Given the description of an element on the screen output the (x, y) to click on. 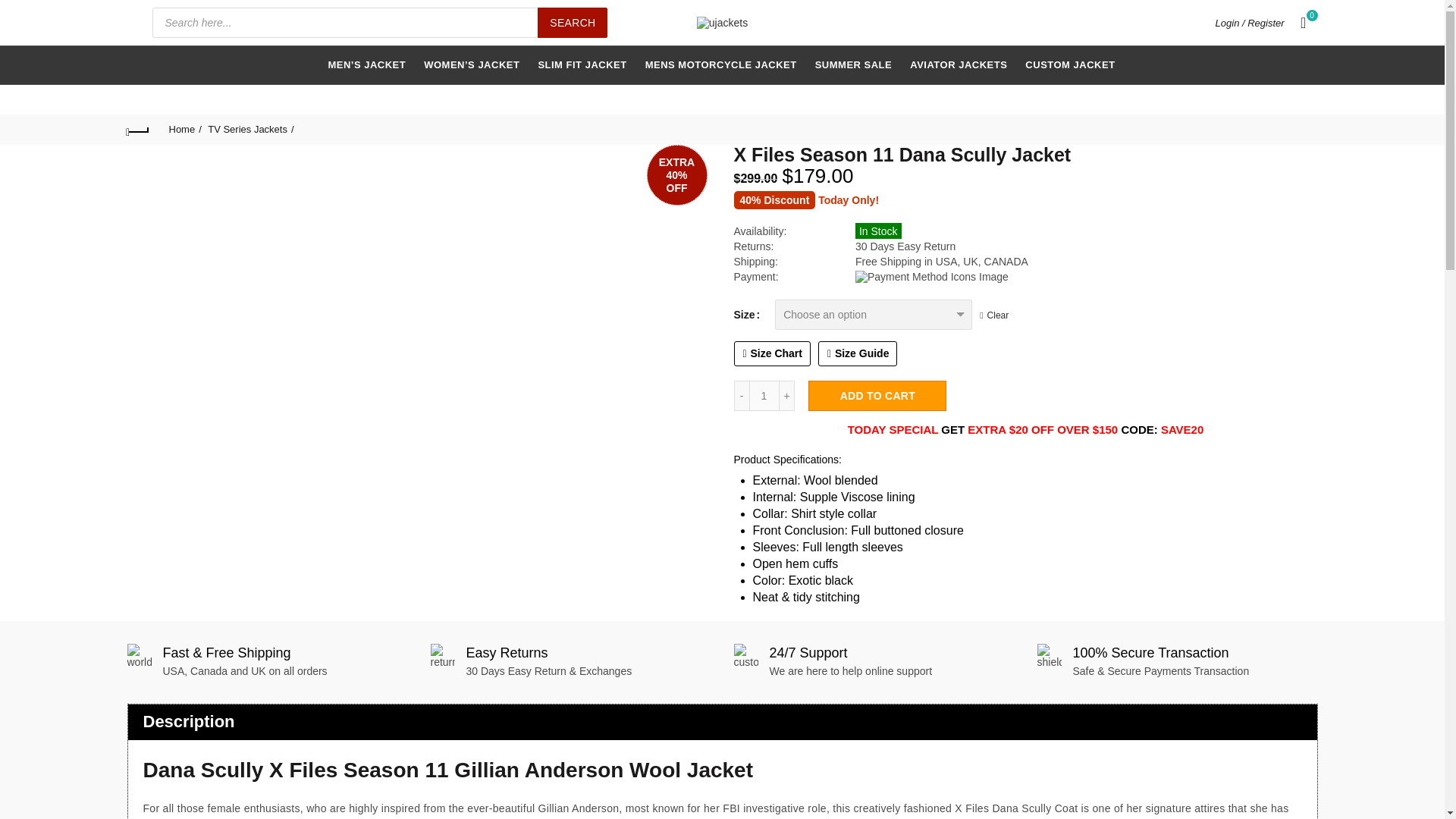
MENS MOTORCYCLE JACKET (720, 64)
TV Series Jackets (251, 129)
Back (138, 128)
Size Guide (858, 353)
CUSTOM JACKET (1069, 64)
ADD TO CART (877, 395)
0 (1304, 22)
Qty (763, 395)
SUMMER SALE (853, 64)
SLIM FIT JACKET (581, 64)
